Given the description of an element on the screen output the (x, y) to click on. 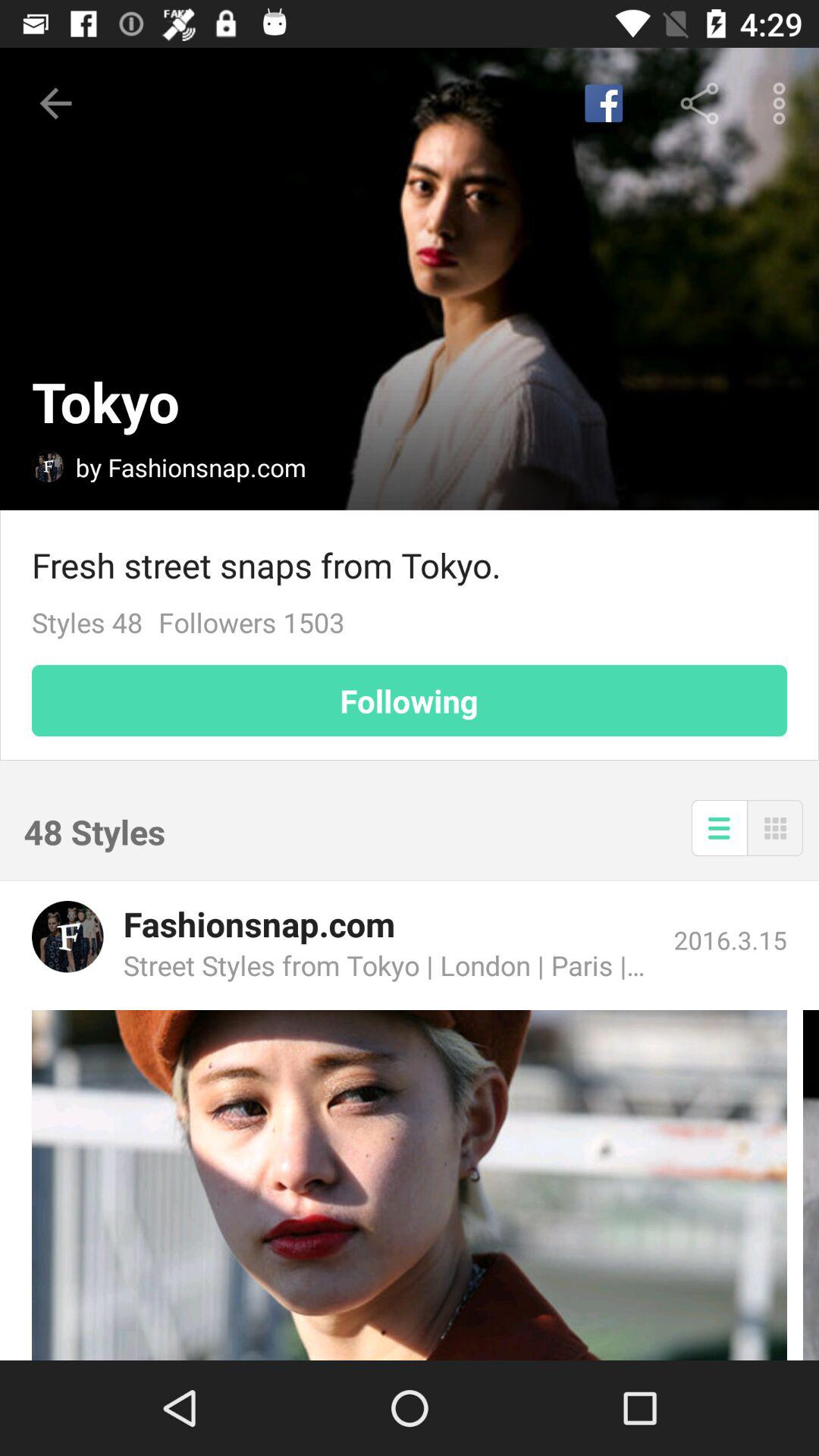
press the item below the following item (718, 827)
